Given the description of an element on the screen output the (x, y) to click on. 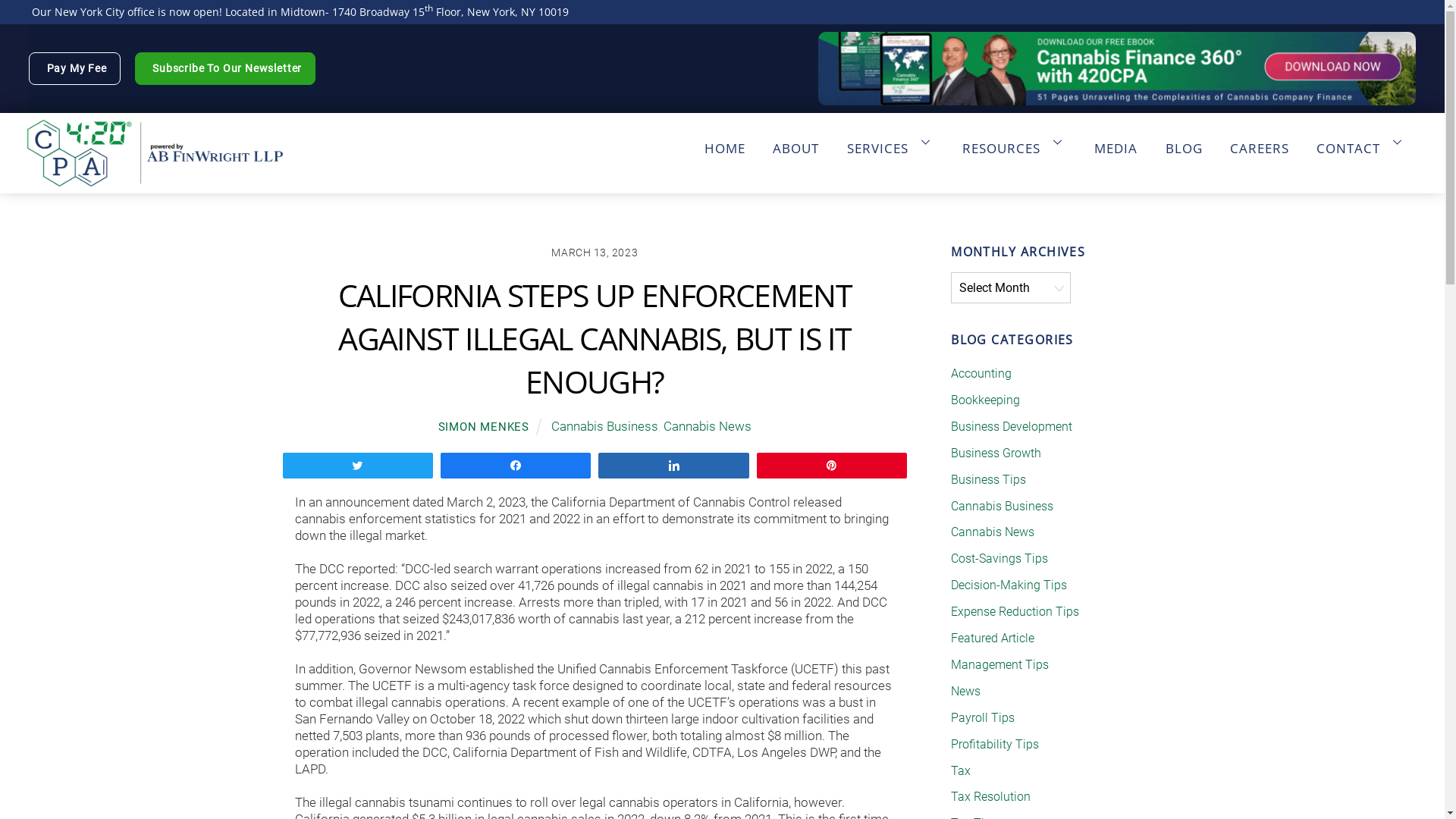
Cost-Savings Tips Element type: text (999, 558)
Expense Reduction Tips Element type: text (1014, 611)
Cannabis Business Element type: text (1001, 505)
News Element type: text (965, 691)
Bookkeeping Element type: text (984, 399)
Cannabis Business Element type: text (604, 425)
CONTACT Element type: text (1361, 138)
Management Tips Element type: text (999, 664)
Cannabis News Element type: text (707, 425)
SIMON MENKES Element type: text (483, 426)
Business Growth Element type: text (995, 452)
HOME Element type: text (724, 138)
CAREERS Element type: text (1259, 138)
Tax Element type: text (960, 770)
RESOURCES Element type: text (1014, 138)
Tax Resolution Element type: text (990, 796)
420CPA_Registered-min Element type: hover (154, 152)
Accounting Element type: text (980, 373)
Payroll Tips Element type: text (982, 717)
SERVICES Element type: text (890, 138)
Business Tips Element type: text (988, 479)
ABOUT Element type: text (795, 138)
BLOG Element type: text (1183, 138)
Cannabis News Element type: text (992, 531)
Cannabis-Finance-360-Ad-800x99-01 Element type: hover (1116, 68)
MEDIA Element type: text (1115, 138)
Pay My Fee Element type: text (74, 68)
Business Development Element type: text (1011, 426)
Subscribe To Our Newsletter Element type: text (224, 68)
Decision-Making Tips Element type: text (1008, 584)
Profitability Tips Element type: text (994, 744)
420CPA Element type: hover (154, 180)
Featured Article Element type: text (992, 637)
